Given the description of an element on the screen output the (x, y) to click on. 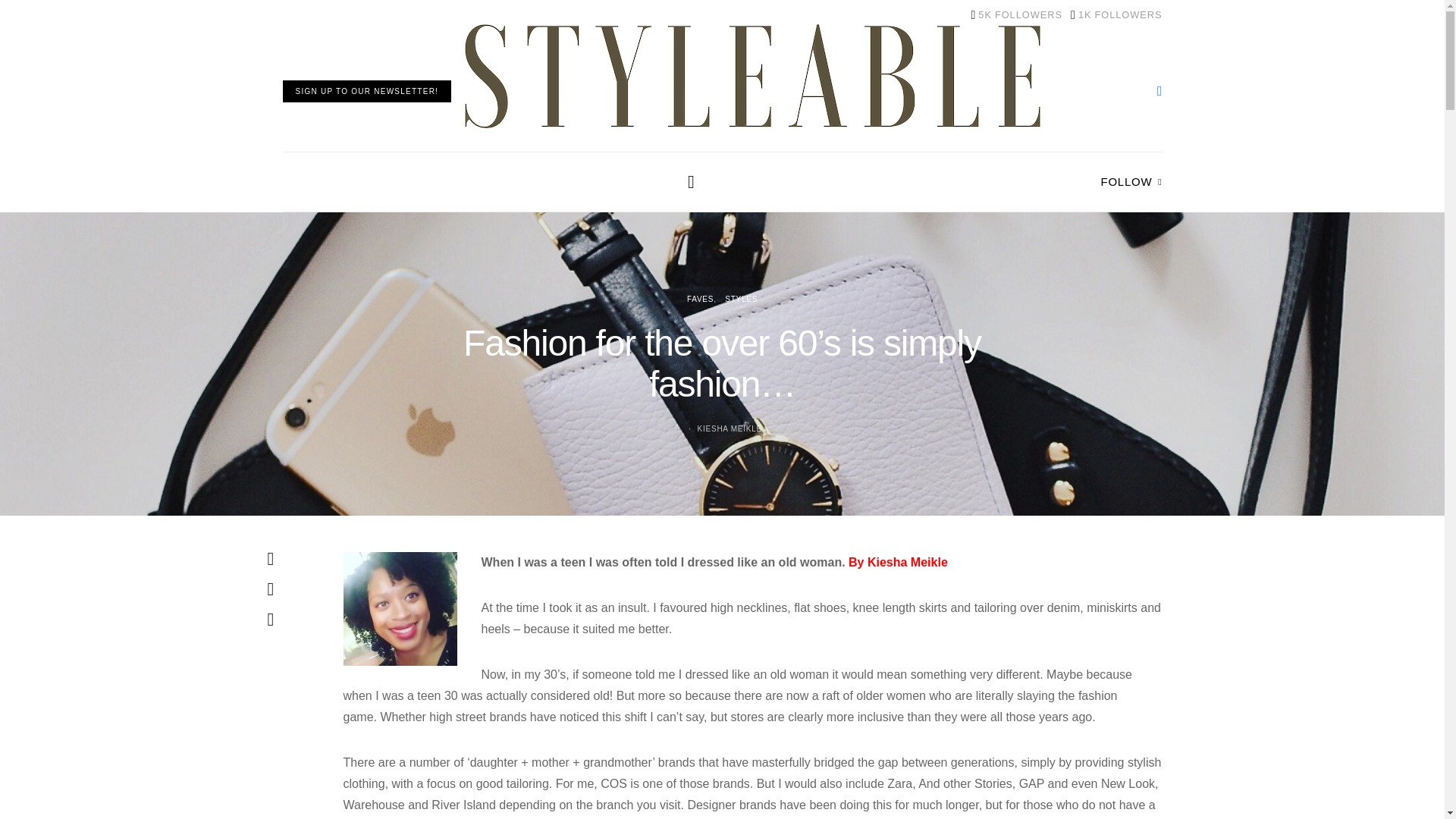
SIGN UP TO OUR NEWSLETTER! (366, 91)
View all posts by Kiesha Meikle (1016, 15)
